Given the description of an element on the screen output the (x, y) to click on. 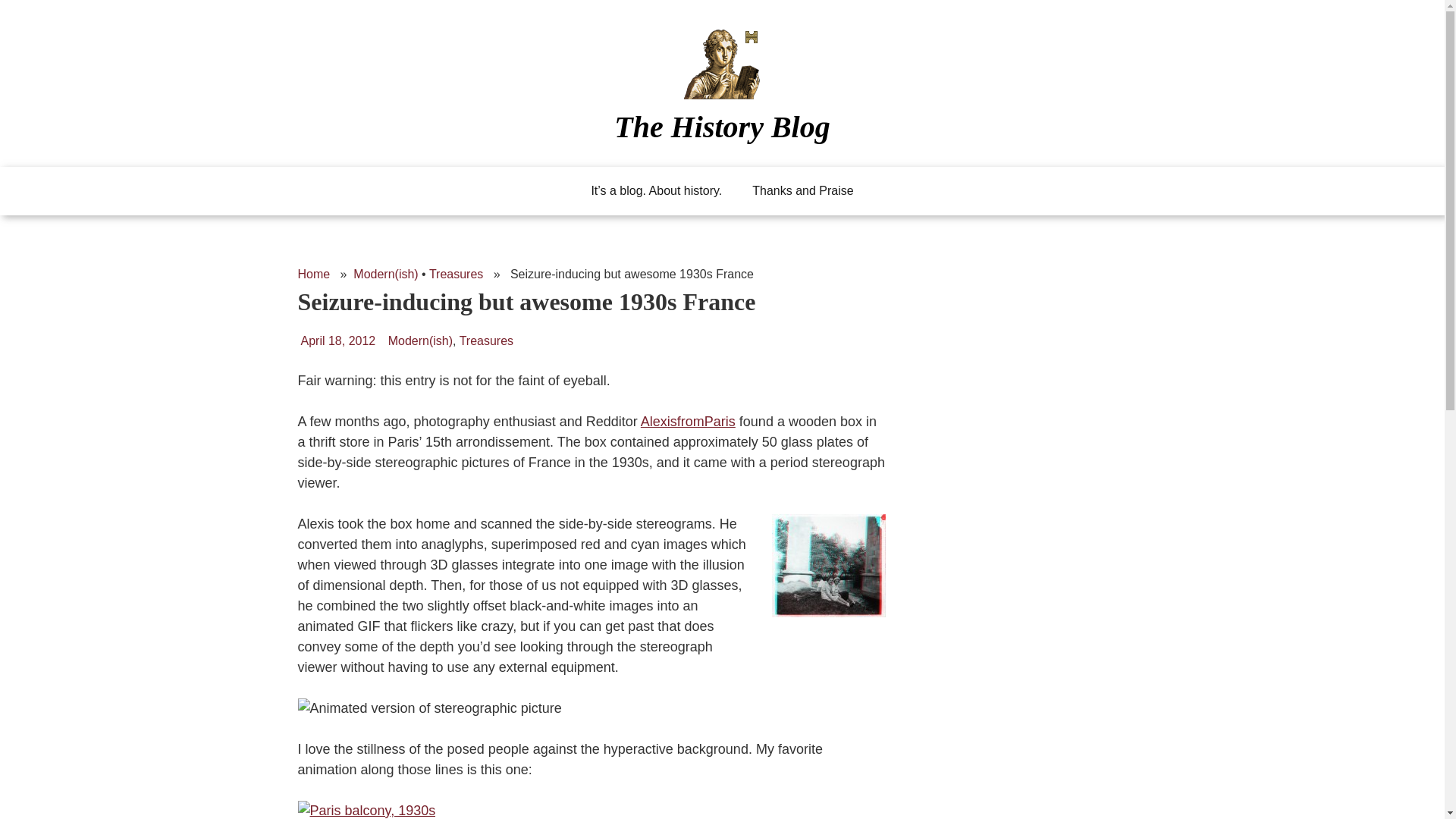
Paris balcony, 1930s (366, 809)
Thanks and Praise (801, 191)
Treasures (486, 340)
Anaglyph of France in the 1930s (828, 565)
April 18, 2012 (336, 340)
AlexisfromParis (687, 421)
Animated version of stereographic picture (428, 708)
The History Blog (721, 125)
Treasures (456, 273)
Home (313, 273)
